Given the description of an element on the screen output the (x, y) to click on. 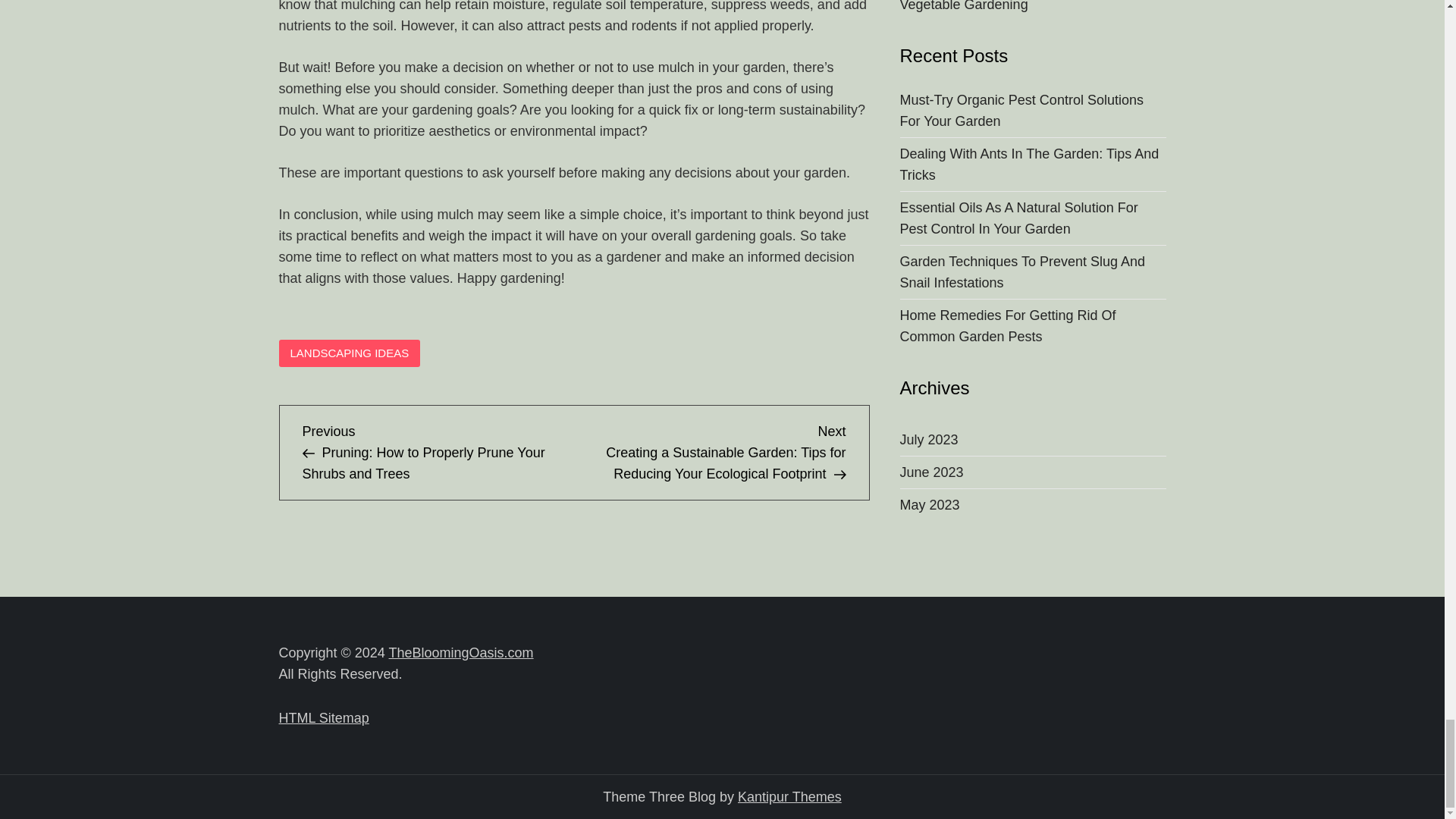
HTML Sitemap (324, 717)
TheBloomingOasis.com (461, 652)
LANDSCAPING IDEAS (349, 352)
Kantipur Themes (789, 796)
